Given the description of an element on the screen output the (x, y) to click on. 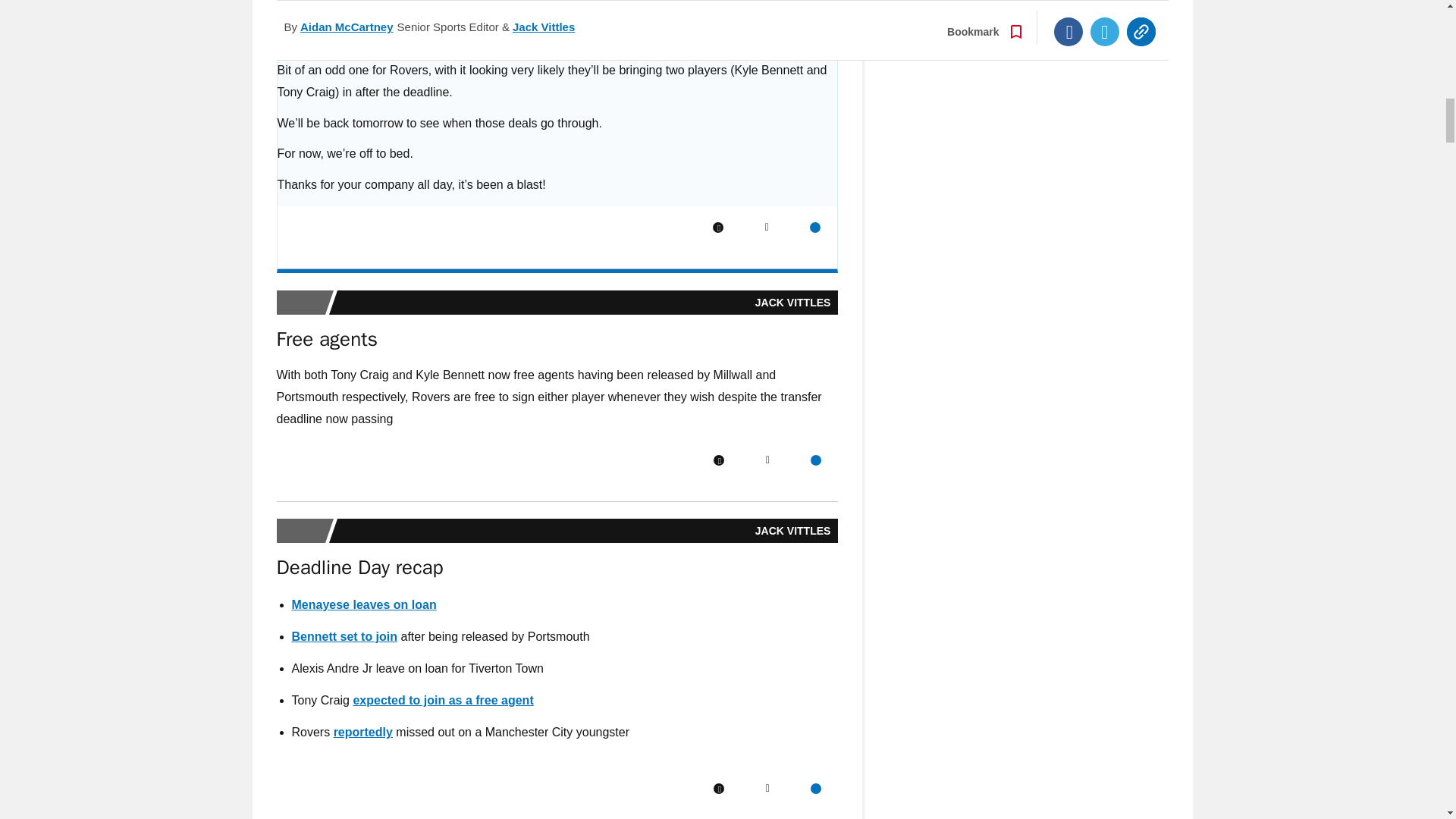
Twitter (767, 460)
Twitter (767, 787)
Facebook (718, 460)
Facebook (718, 226)
Facebook (718, 787)
Twitter (766, 226)
